Given the description of an element on the screen output the (x, y) to click on. 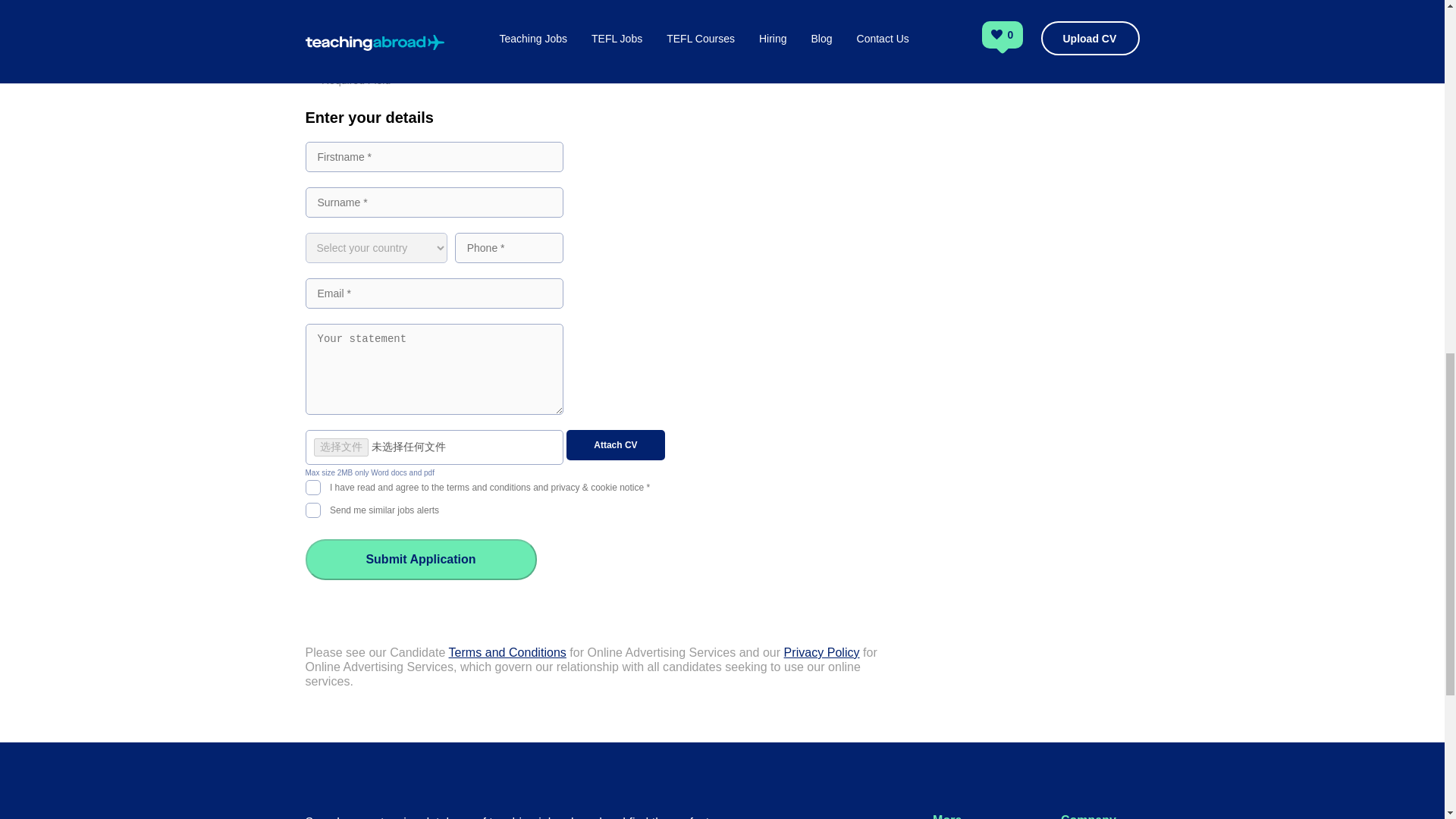
Privacy Policy (822, 652)
Please see our Candidate (376, 652)
on (312, 485)
on (312, 508)
Submit Application (419, 558)
Terms and Conditions (507, 652)
